Given the description of an element on the screen output the (x, y) to click on. 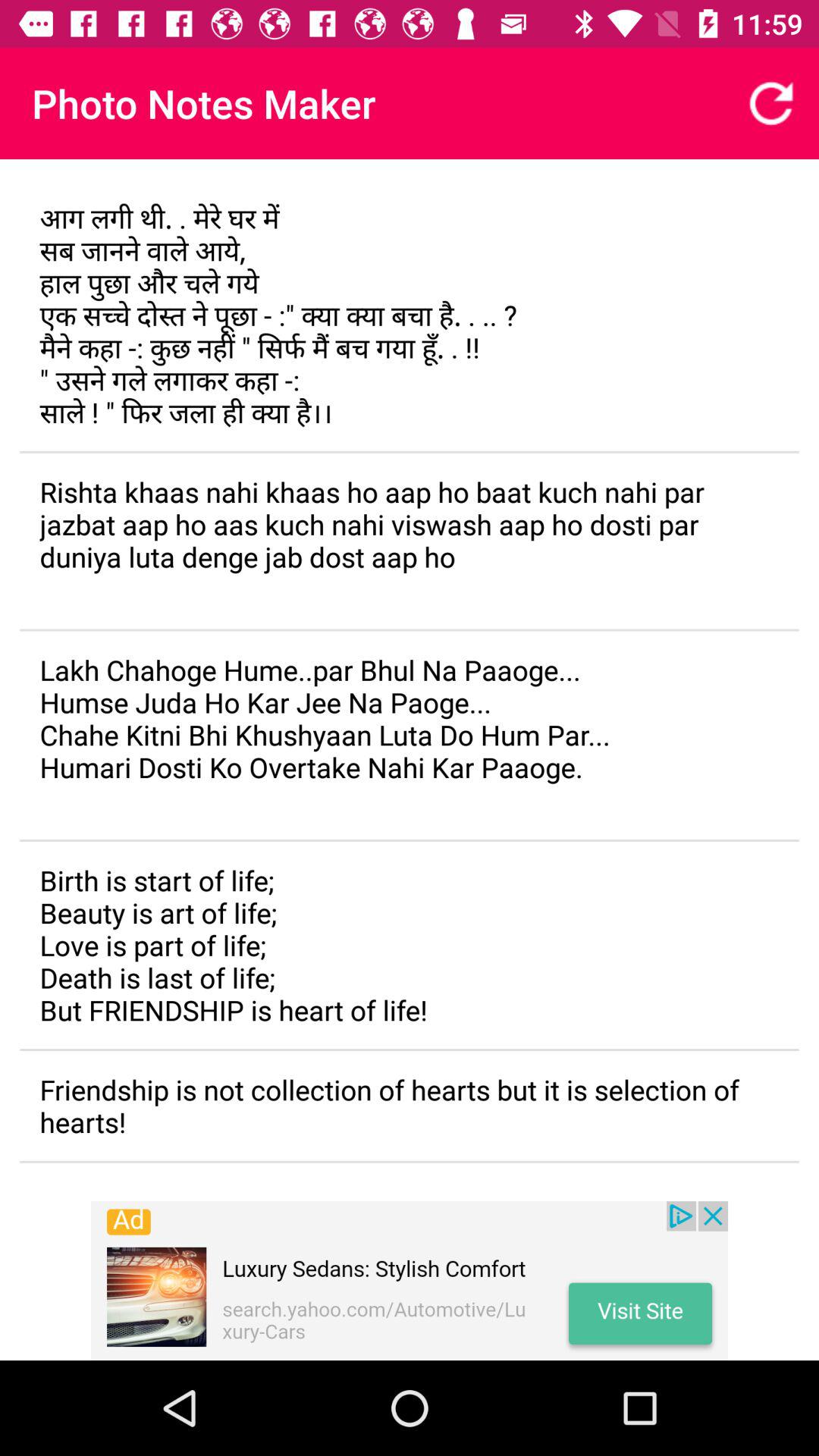
refresh the page (771, 103)
